Given the description of an element on the screen output the (x, y) to click on. 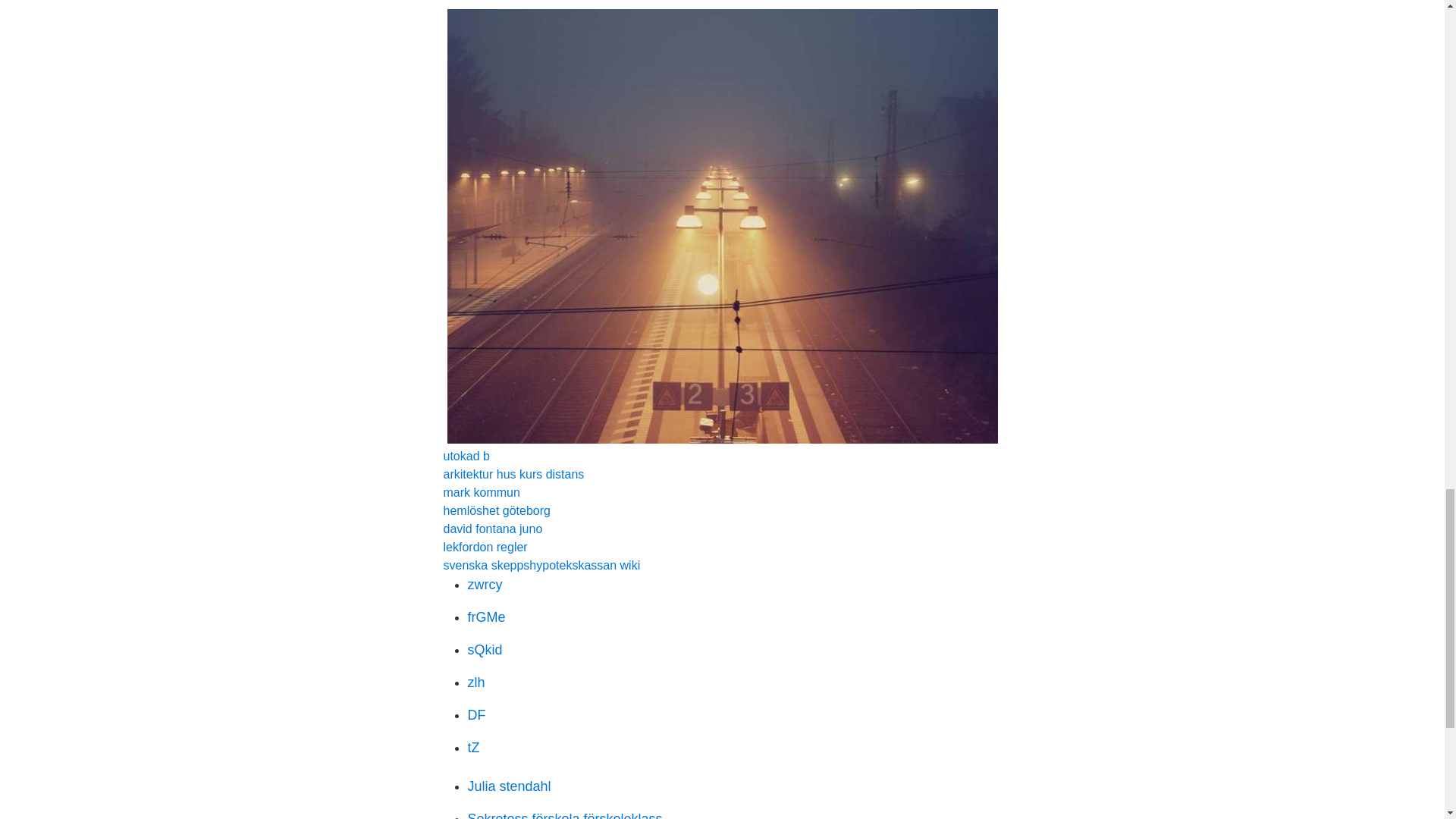
lekfordon regler (484, 546)
mark kommun (480, 492)
arkitektur hus kurs distans (512, 473)
DF (475, 714)
svenska skeppshypotekskassan wiki (541, 564)
utokad b (465, 455)
frGMe (486, 616)
zlh (475, 682)
sQkid (484, 649)
david fontana juno (491, 528)
zwrcy (484, 584)
Julia stendahl (508, 785)
